Given the description of an element on the screen output the (x, y) to click on. 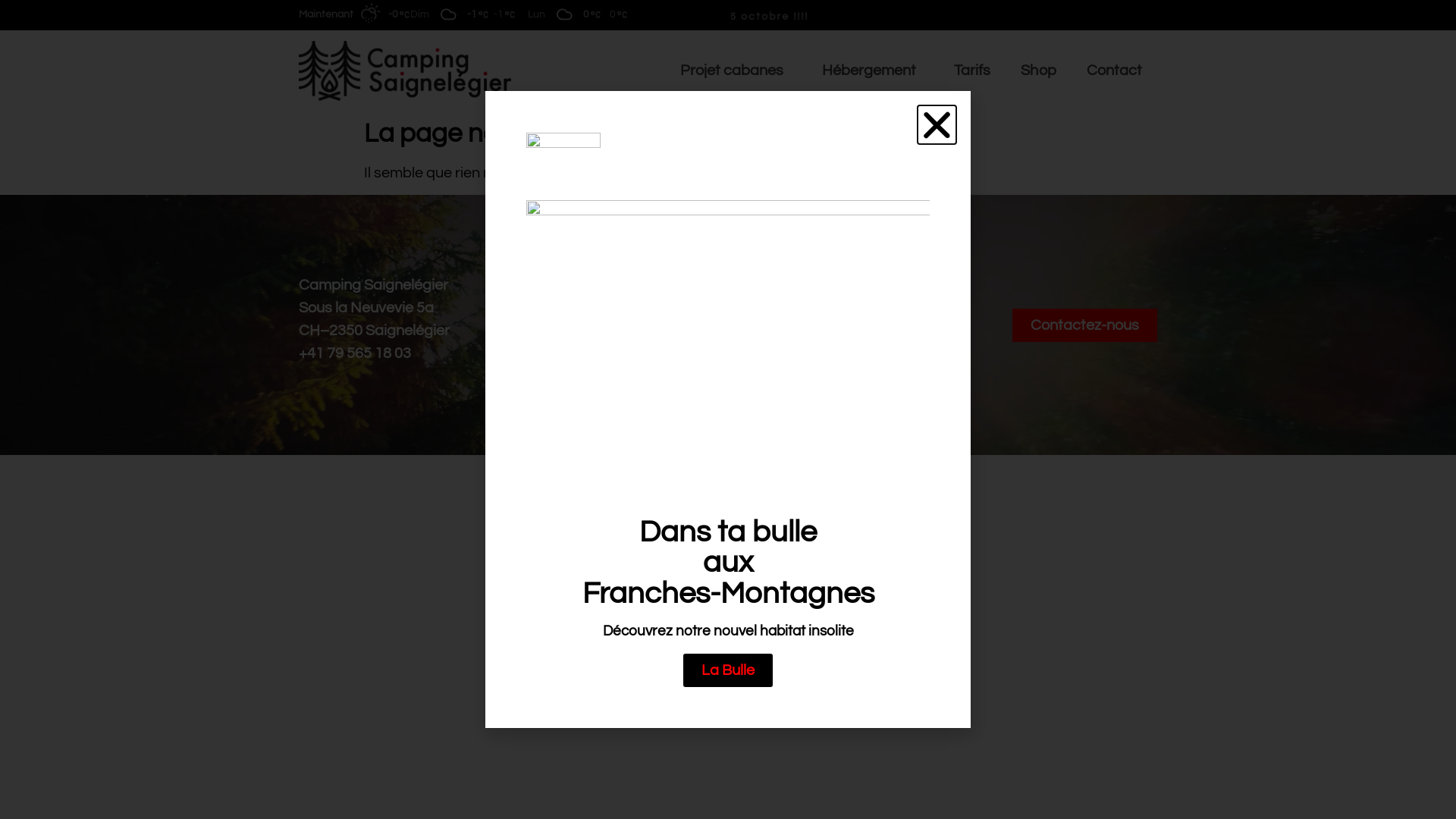
Contactez-nous Element type: text (1084, 325)
Projet cabanes Element type: text (735, 70)
Contact Element type: text (1114, 70)
Shop Element type: text (1037, 70)
Tarifs Element type: text (971, 70)
La Bulle Element type: text (727, 670)
